Given the description of an element on the screen output the (x, y) to click on. 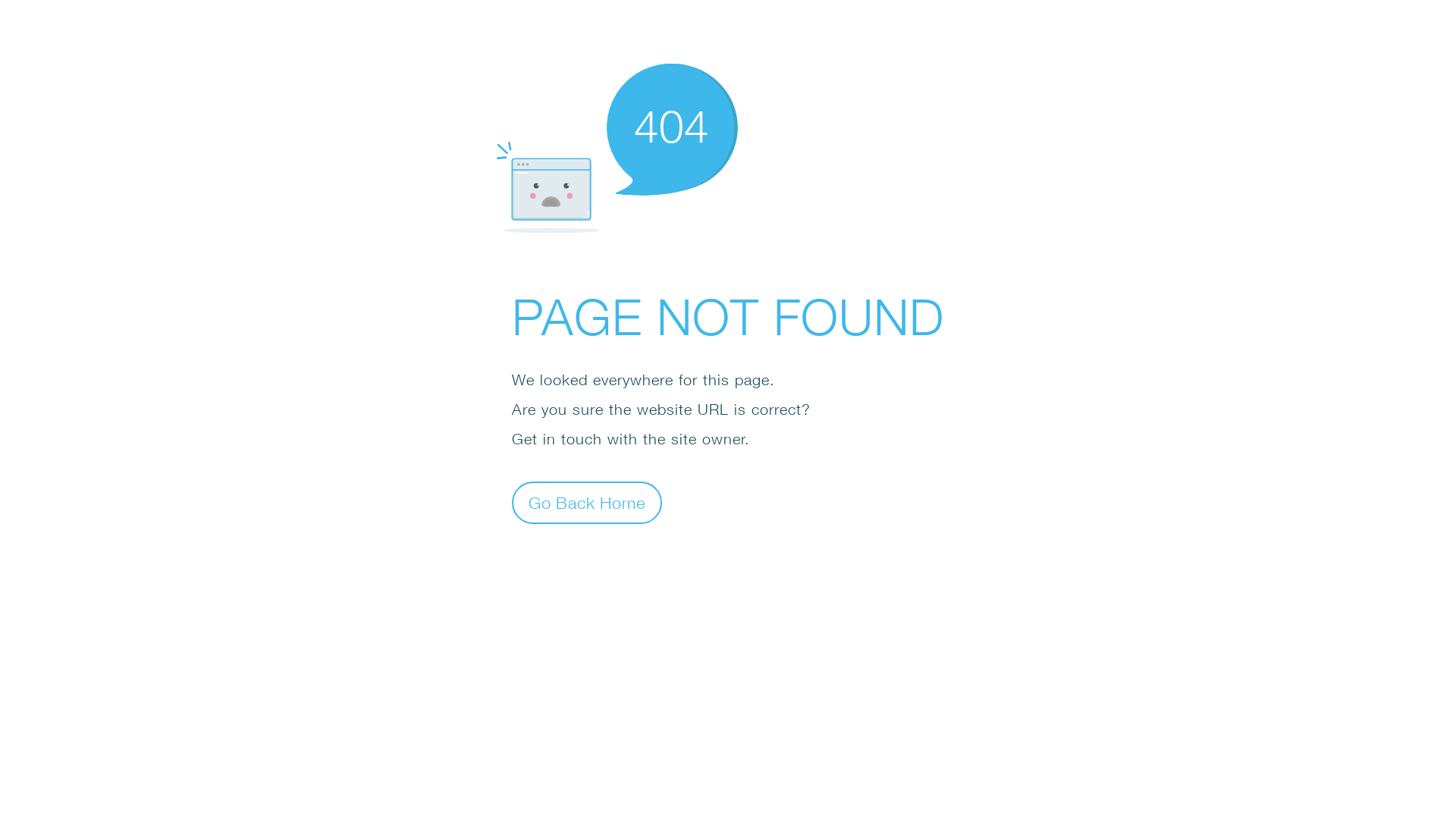
Go Back Home Element type: text (586, 502)
